Given the description of an element on the screen output the (x, y) to click on. 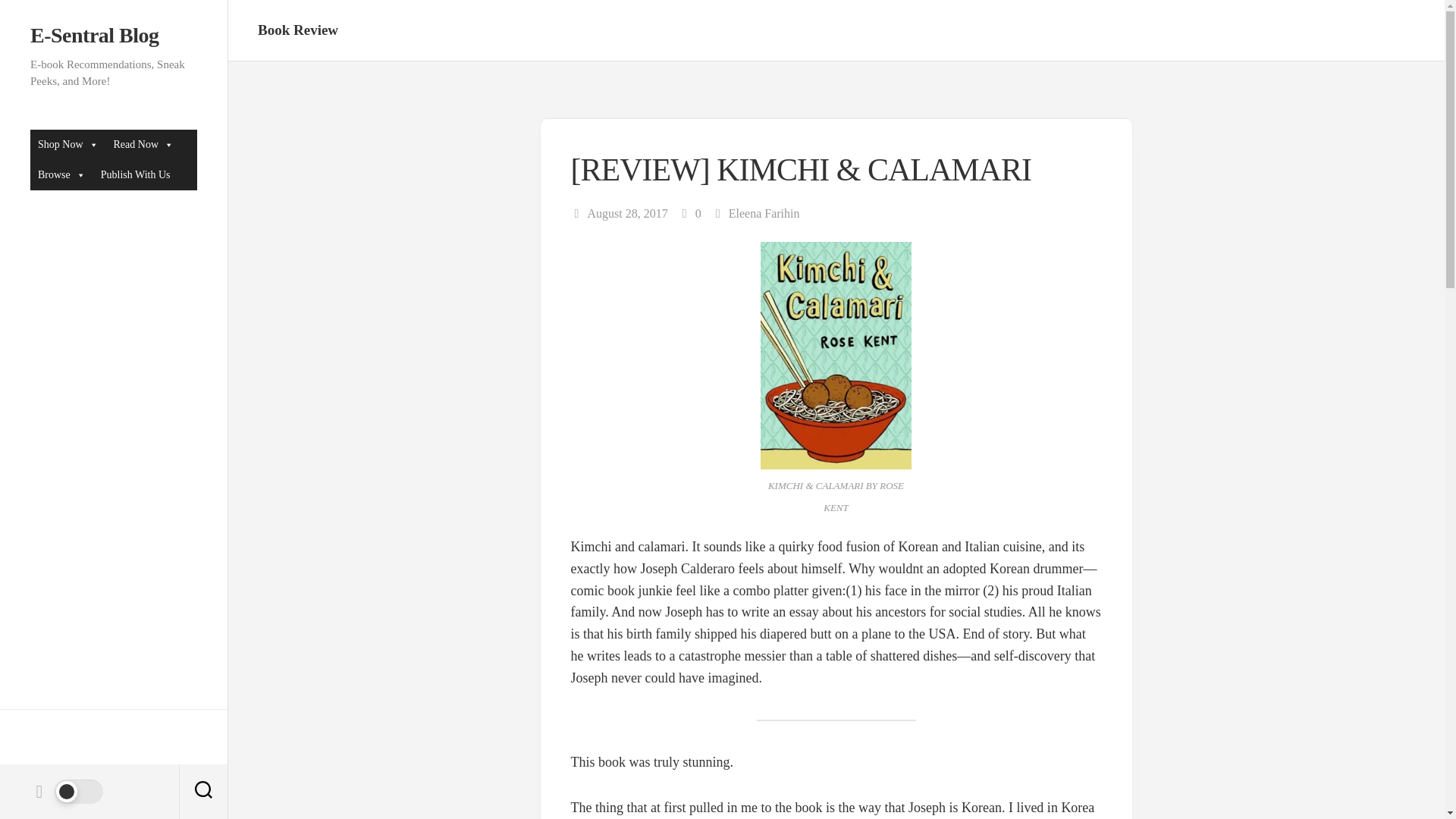
Browse (61, 174)
Publish With Us (135, 174)
Shop Now (68, 144)
E-Sentral Blog (113, 35)
Read Now (144, 144)
Posts by Eleena Farihin (764, 213)
